Given the description of an element on the screen output the (x, y) to click on. 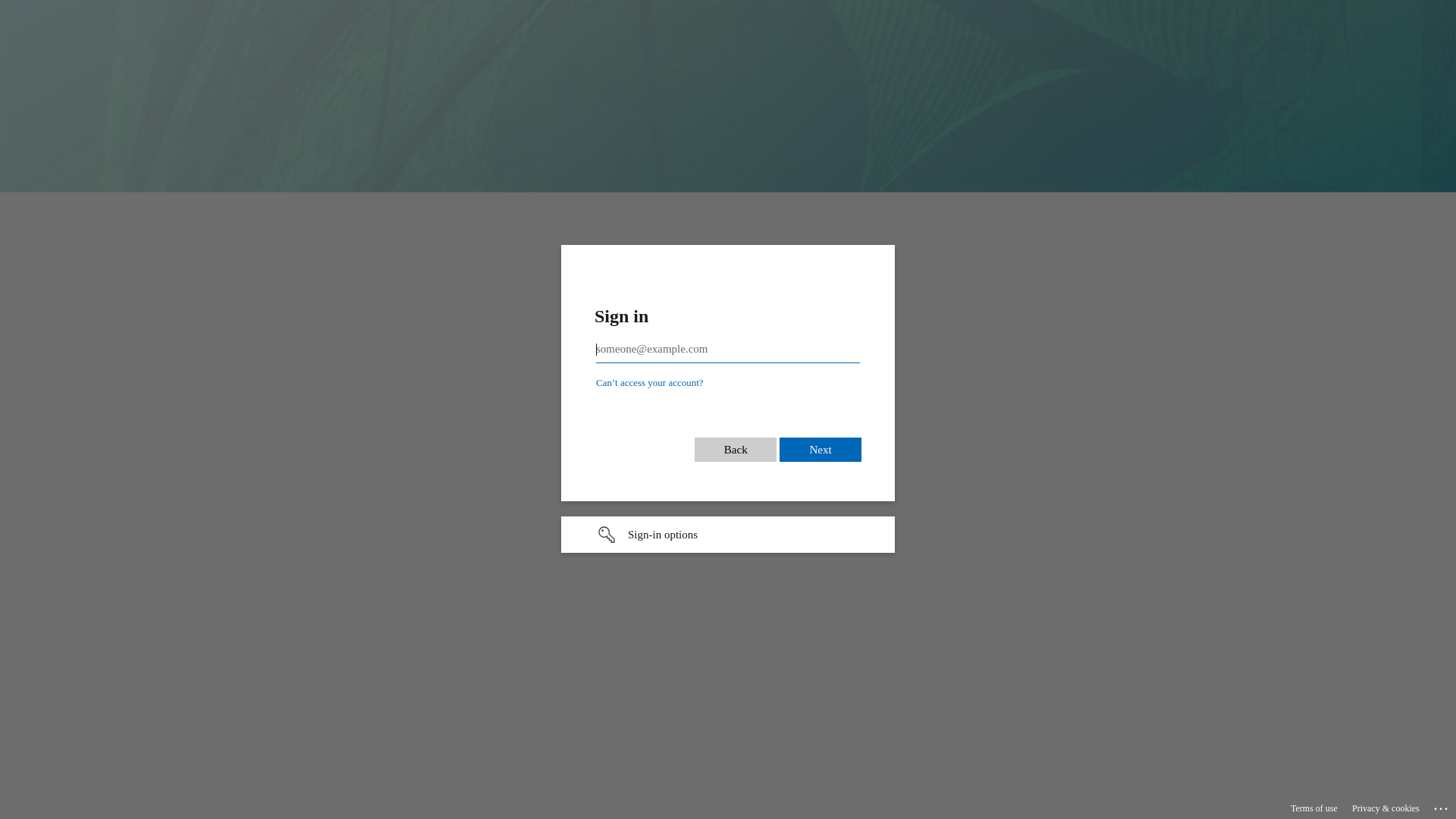
... Element type: text (1441, 805)
Next Element type: text (820, 449)
